Given the description of an element on the screen output the (x, y) to click on. 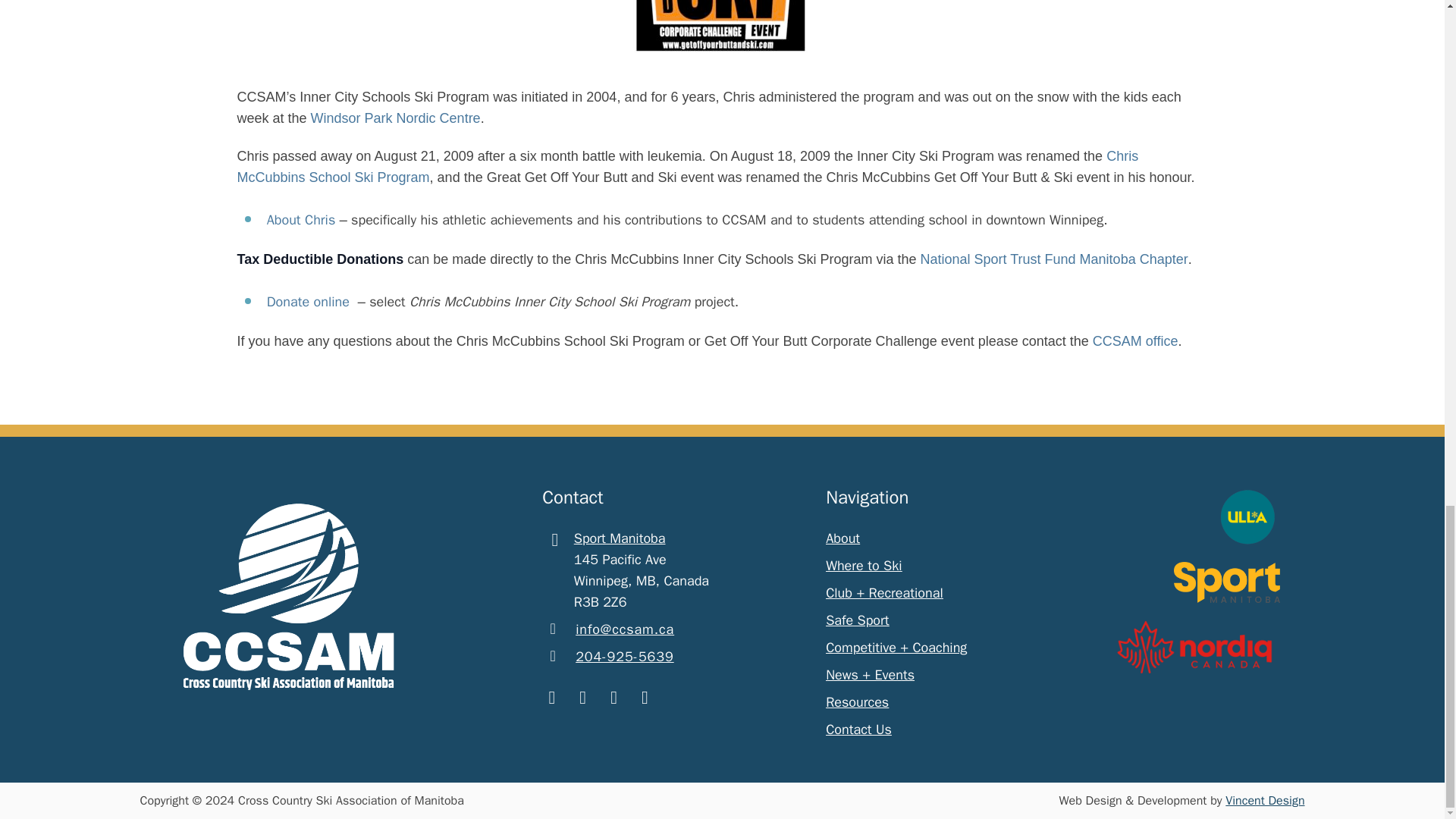
Windsor Park Nordic Centre (395, 118)
